Given the description of an element on the screen output the (x, y) to click on. 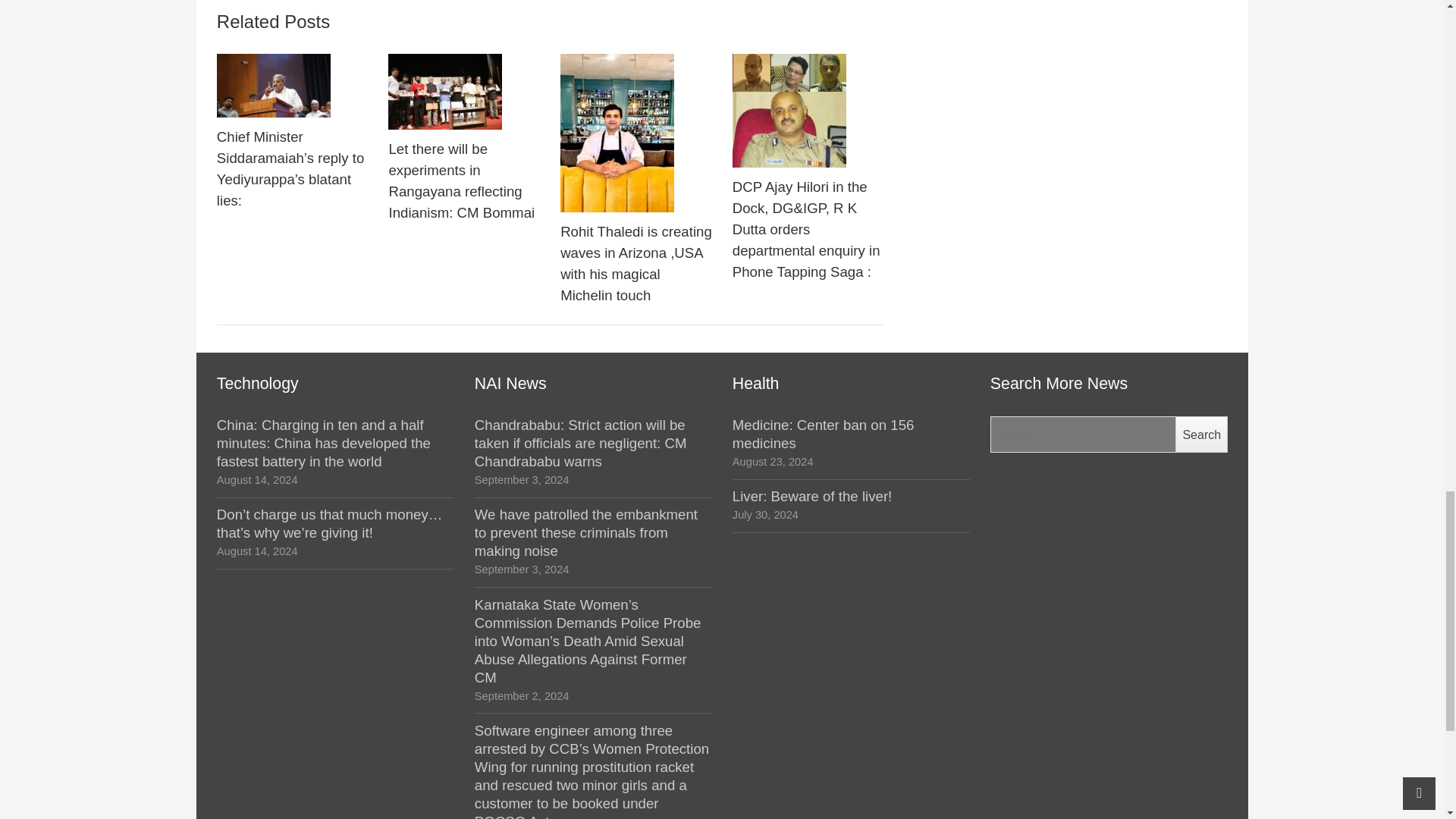
Search (1200, 434)
Search (1200, 434)
